Given the description of an element on the screen output the (x, y) to click on. 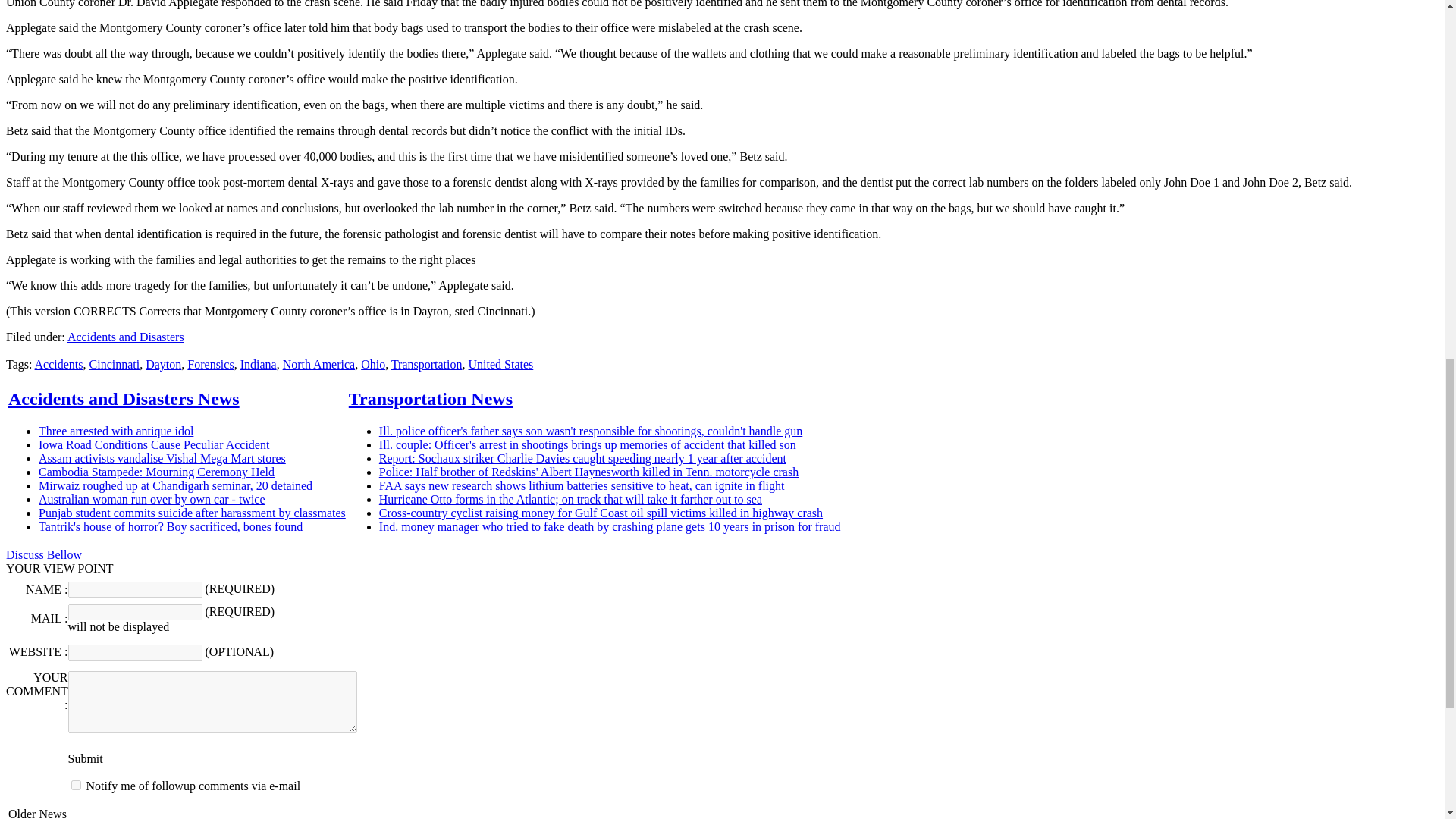
Indiana (258, 364)
Forensics (209, 364)
Accidents and Disasters (125, 336)
Cincinnati (113, 364)
North America (318, 364)
Ohio (373, 364)
Dayton (162, 364)
Accidents (58, 364)
subscribe (76, 785)
